Given the description of an element on the screen output the (x, y) to click on. 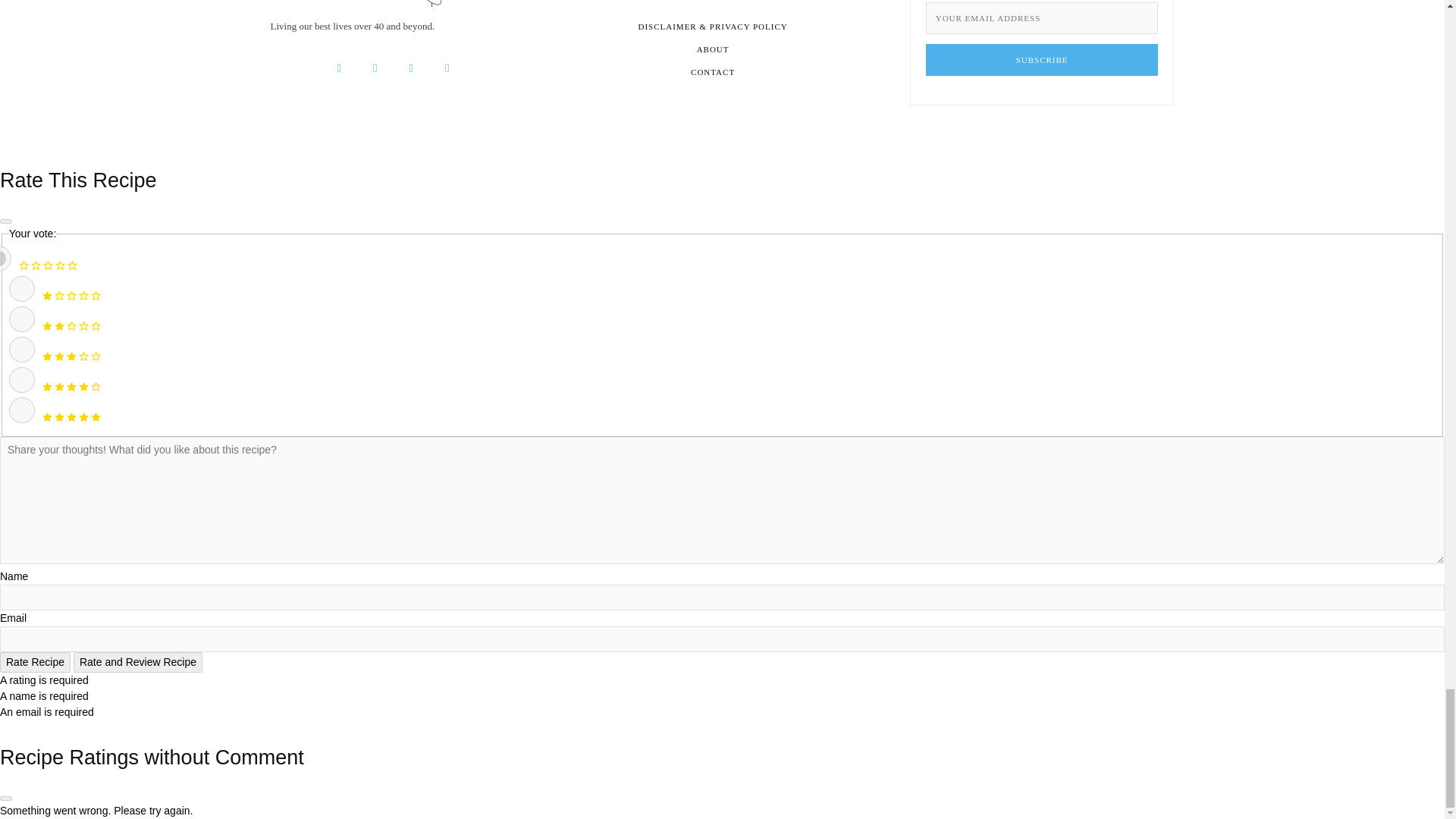
5 (21, 410)
4 (21, 379)
3 (21, 349)
2 (21, 319)
1 (21, 289)
